Given the description of an element on the screen output the (x, y) to click on. 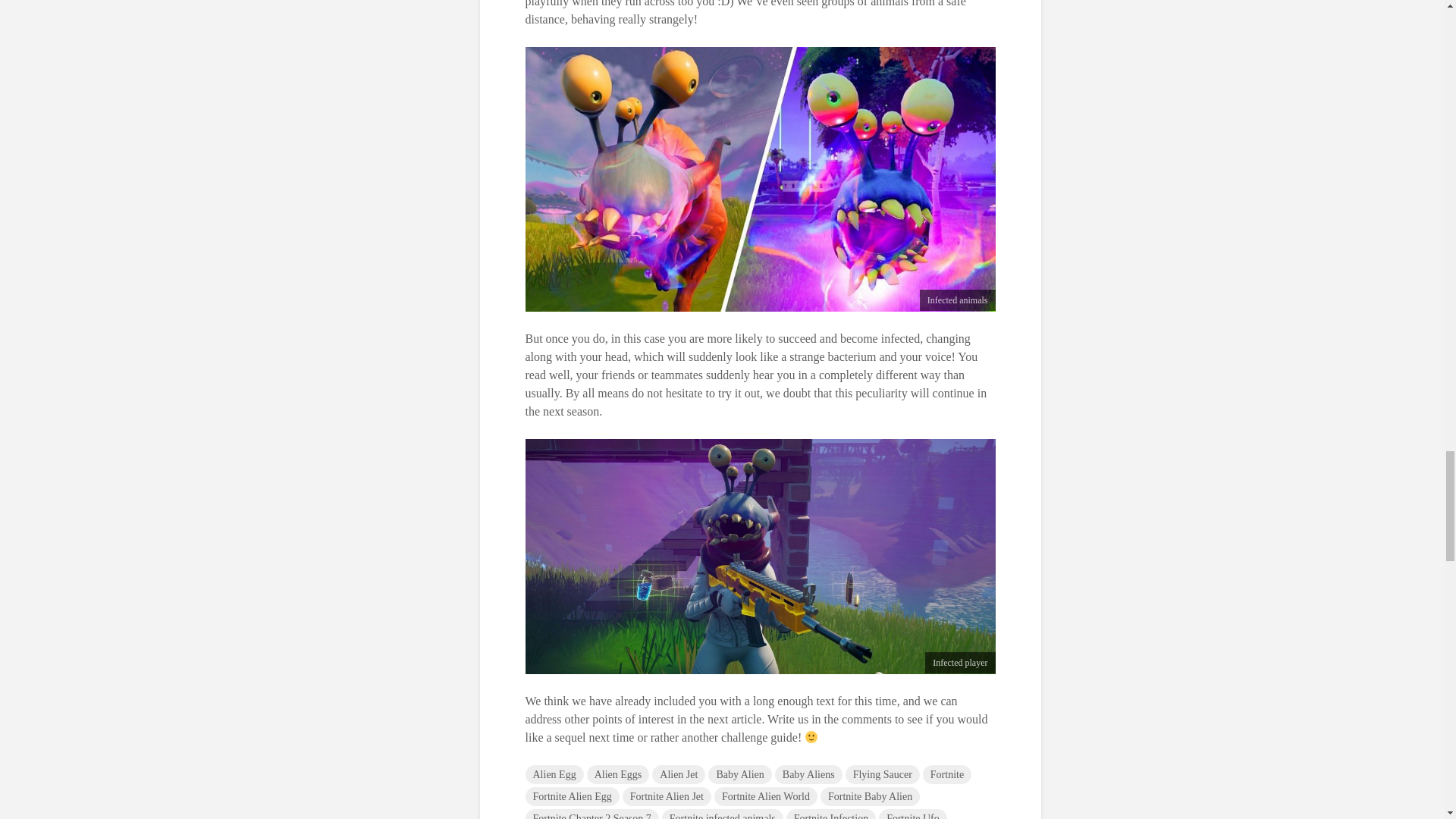
Fortnite (947, 773)
Alien Egg (553, 773)
Fortnite Chapter 2 Season 7 (591, 814)
Baby Aliens (808, 773)
Alien Eggs (617, 773)
Baby Alien (739, 773)
Fortnite infected animals (722, 814)
Fortnite Alien Egg (571, 796)
Fortnite Alien Jet (667, 796)
Flying Saucer (882, 773)
Fortnite Alien World (765, 796)
Fortnite Baby Alien (870, 796)
Alien Jet (678, 773)
